Given the description of an element on the screen output the (x, y) to click on. 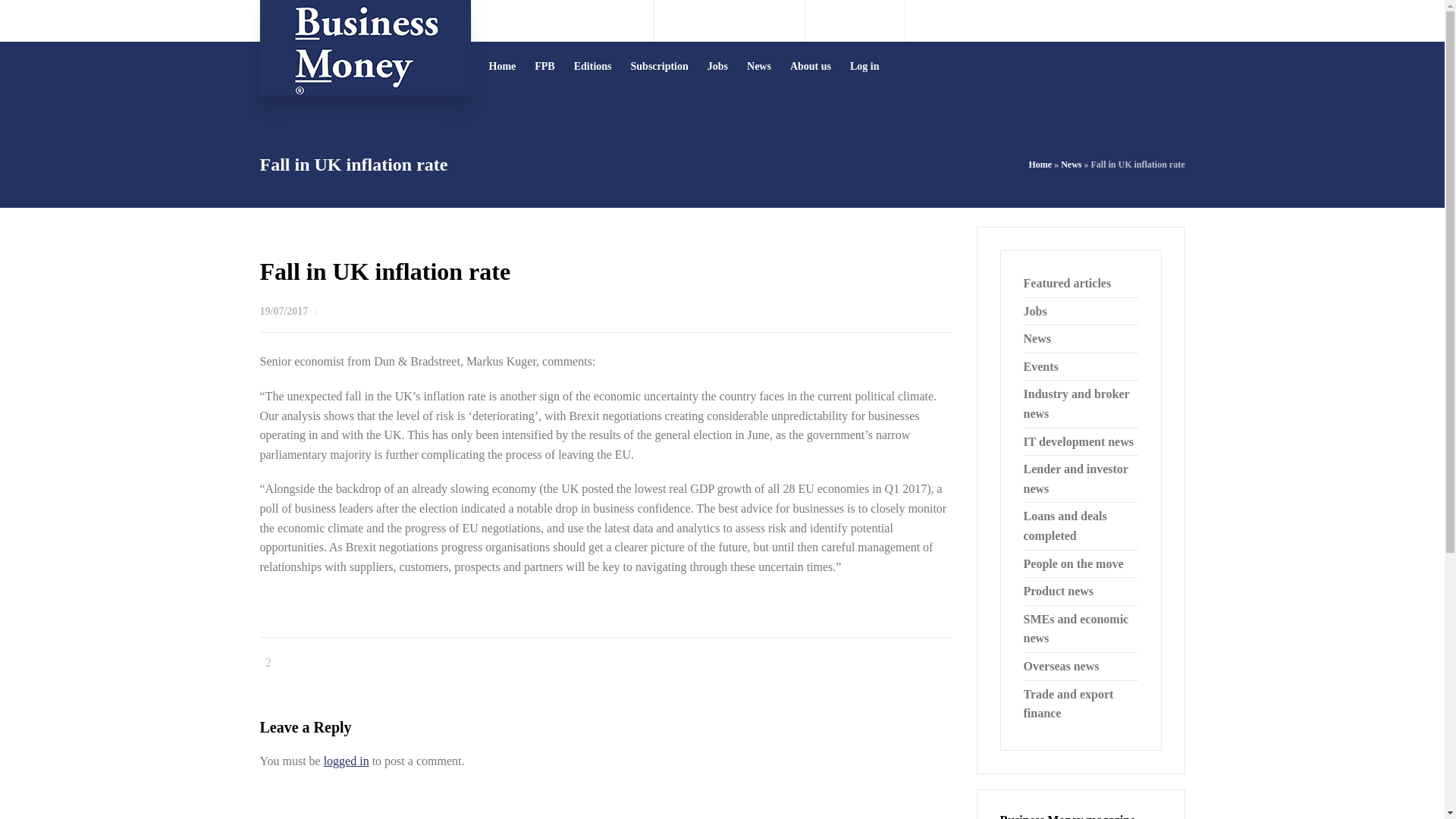
Log in (865, 65)
My account (1158, 20)
Subscription (659, 65)
News (1071, 163)
Business Money (364, 47)
Facebook (855, 20)
About us (810, 65)
Home (1040, 163)
click to call (742, 19)
Editions (592, 65)
